Given the description of an element on the screen output the (x, y) to click on. 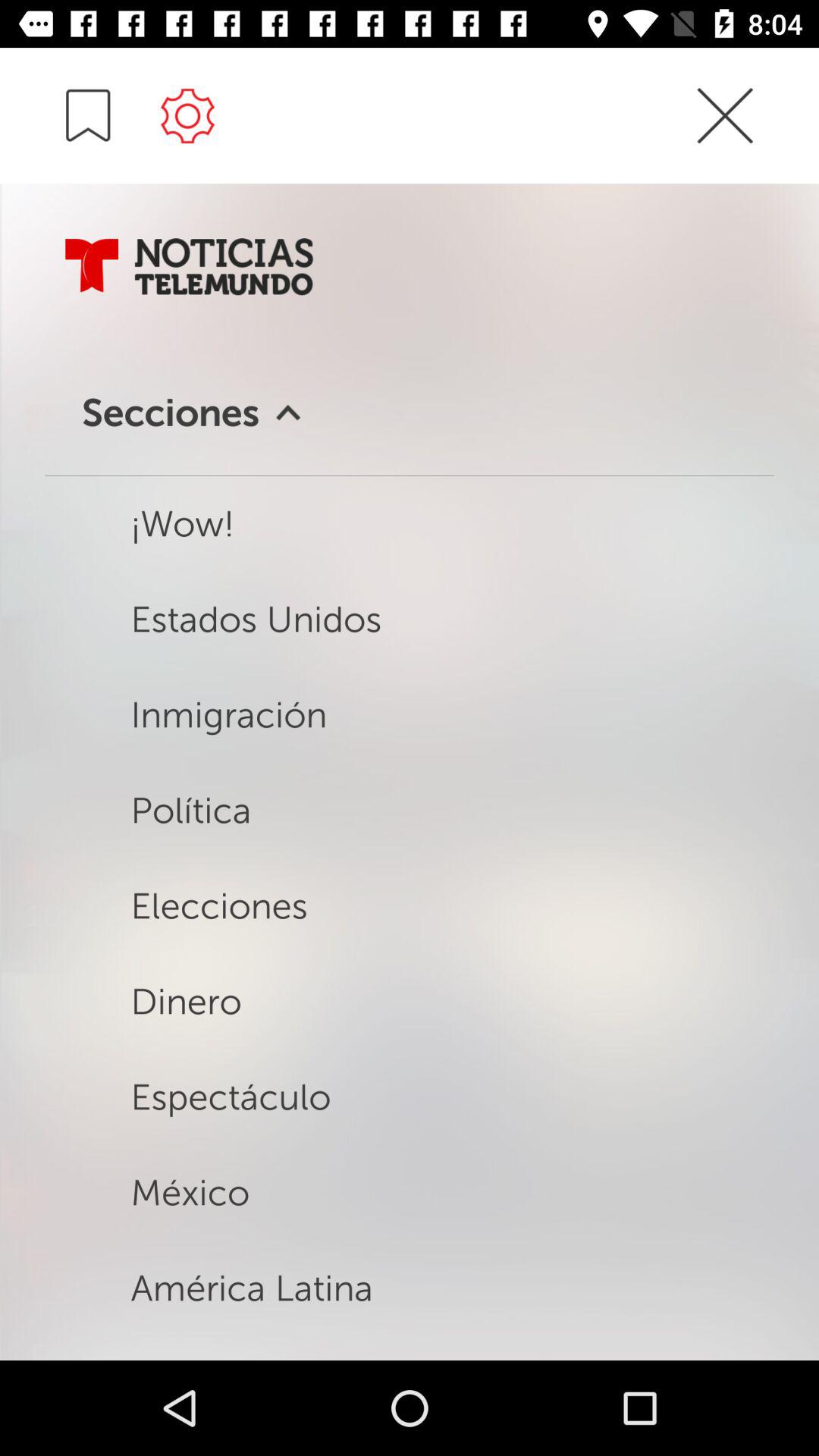
click on elecciones above dinero (290, 888)
icon left to settings icon at the top left corner (88, 115)
